Given the description of an element on the screen output the (x, y) to click on. 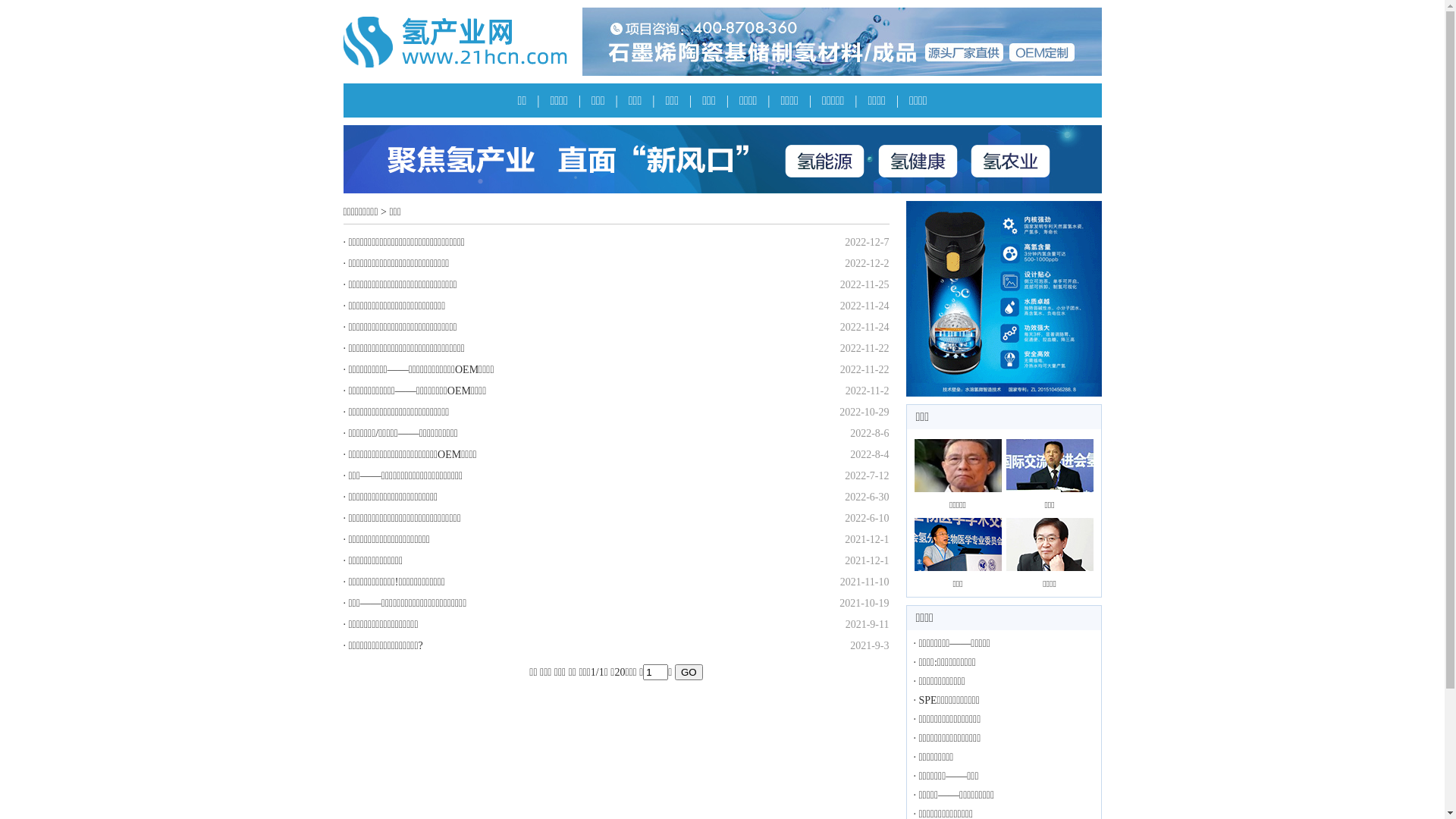
GO Element type: text (688, 672)
